Given the description of an element on the screen output the (x, y) to click on. 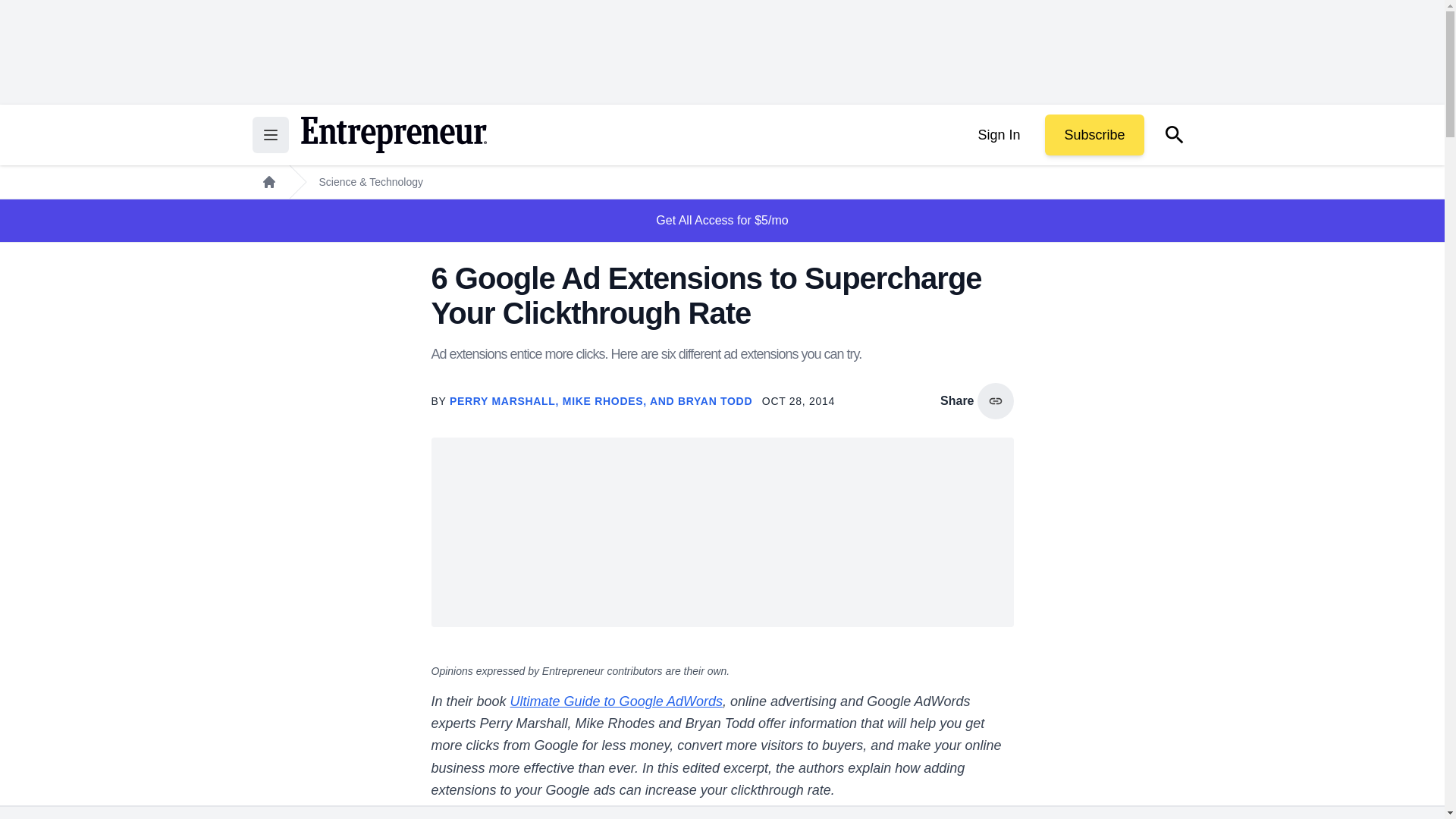
copy (994, 401)
Sign In (998, 134)
Subscribe (1093, 134)
Return to the home page (392, 135)
